Given the description of an element on the screen output the (x, y) to click on. 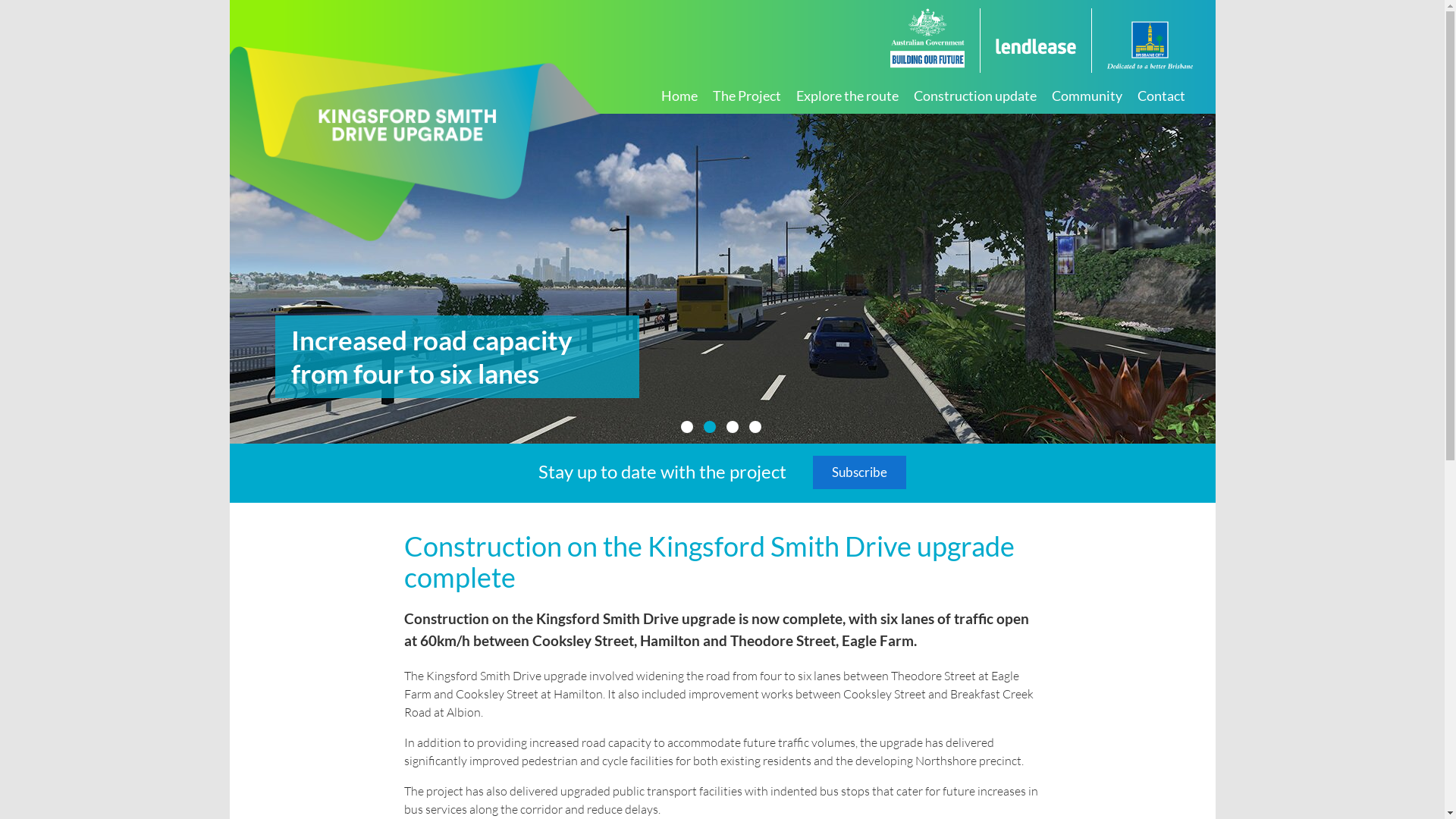
Contact Element type: text (1160, 97)
Riverwalk now open! Element type: text (721, 278)
Construction update Element type: text (974, 97)
Home Element type: text (679, 97)
4 Element type: text (755, 426)
1 Element type: text (686, 426)
Community Element type: text (1086, 97)
The Project Element type: text (746, 97)
2 Element type: text (709, 426)
3 Element type: text (732, 426)
Subscribe Element type: text (859, 472)
Explore the route Element type: text (847, 97)
